Given the description of an element on the screen output the (x, y) to click on. 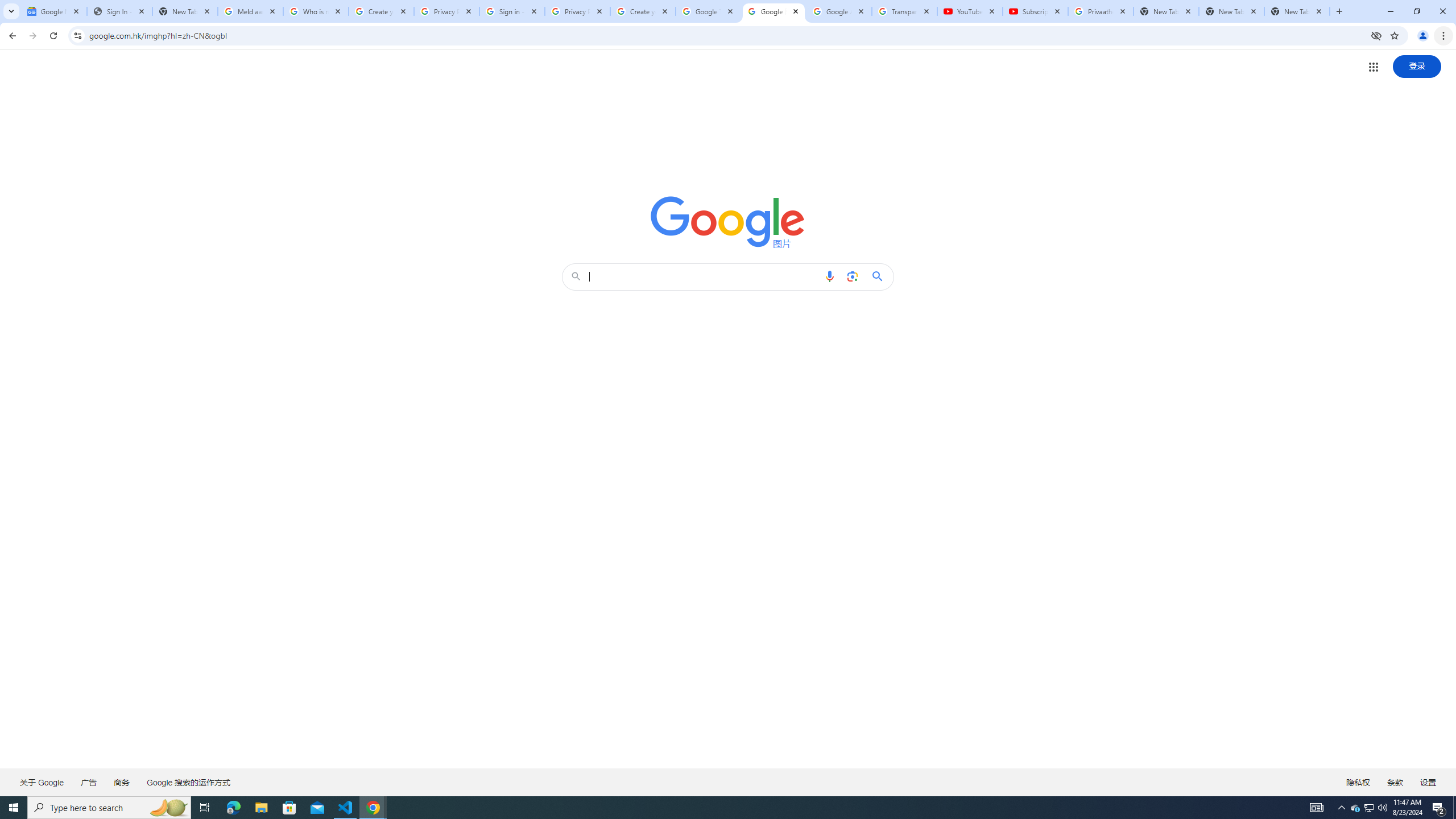
New Tab (1297, 11)
YouTube (969, 11)
Google News (53, 11)
Google Account (838, 11)
Create your Google Account (381, 11)
Sign in - Google Accounts (512, 11)
